Given the description of an element on the screen output the (x, y) to click on. 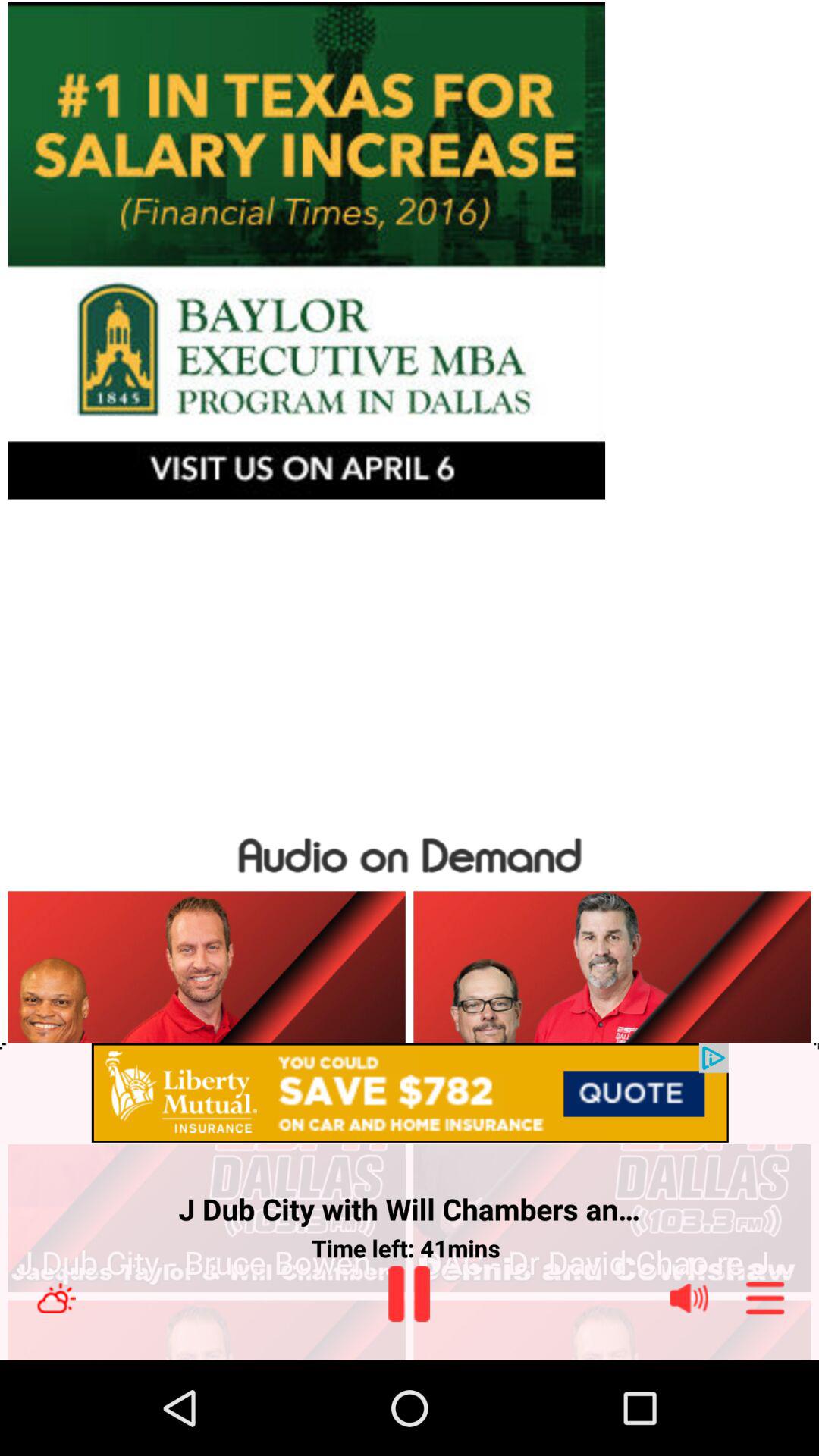
pause the audio (408, 1293)
